Given the description of an element on the screen output the (x, y) to click on. 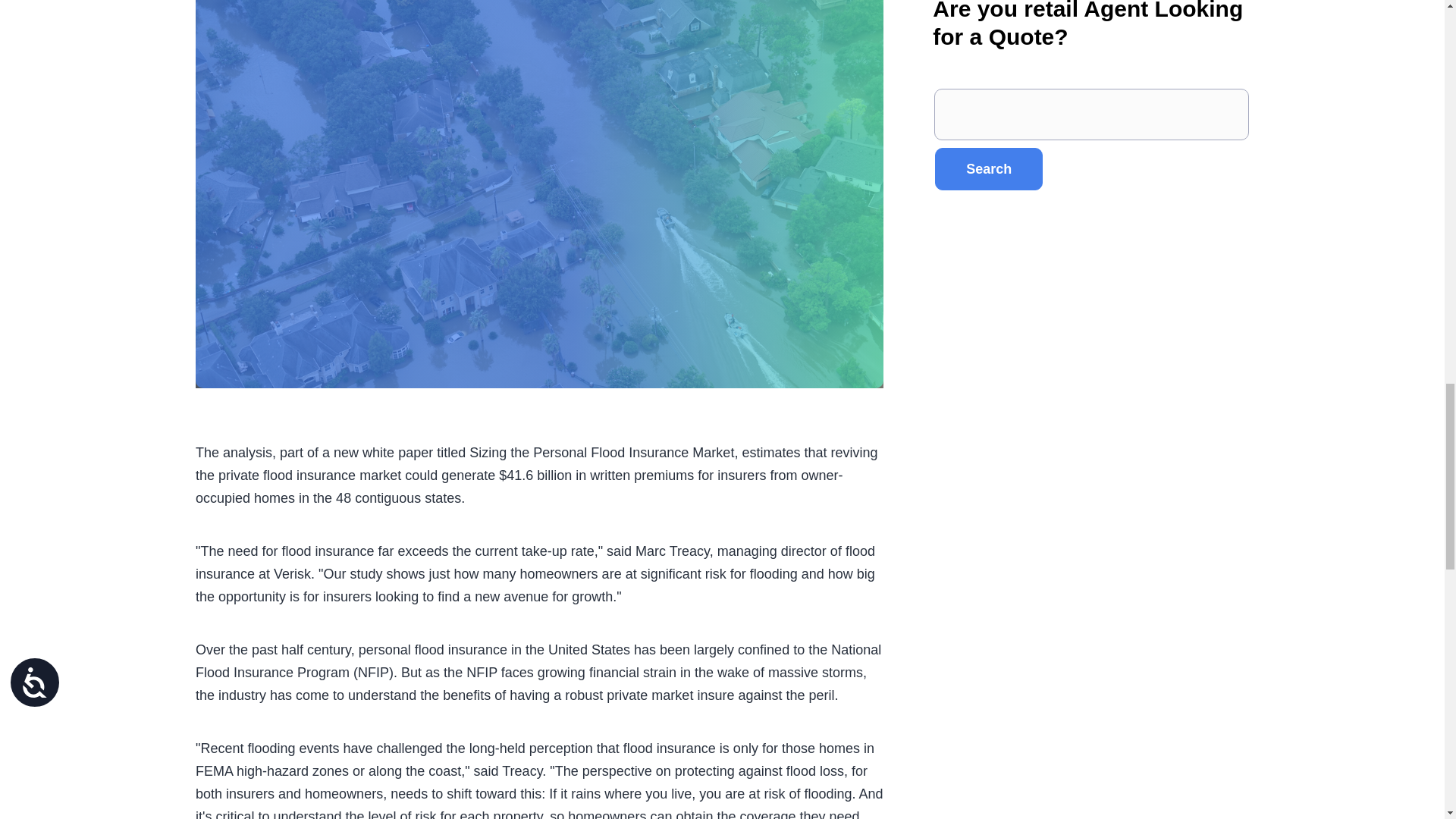
Search (988, 169)
Search (988, 169)
Search (988, 169)
